Given the description of an element on the screen output the (x, y) to click on. 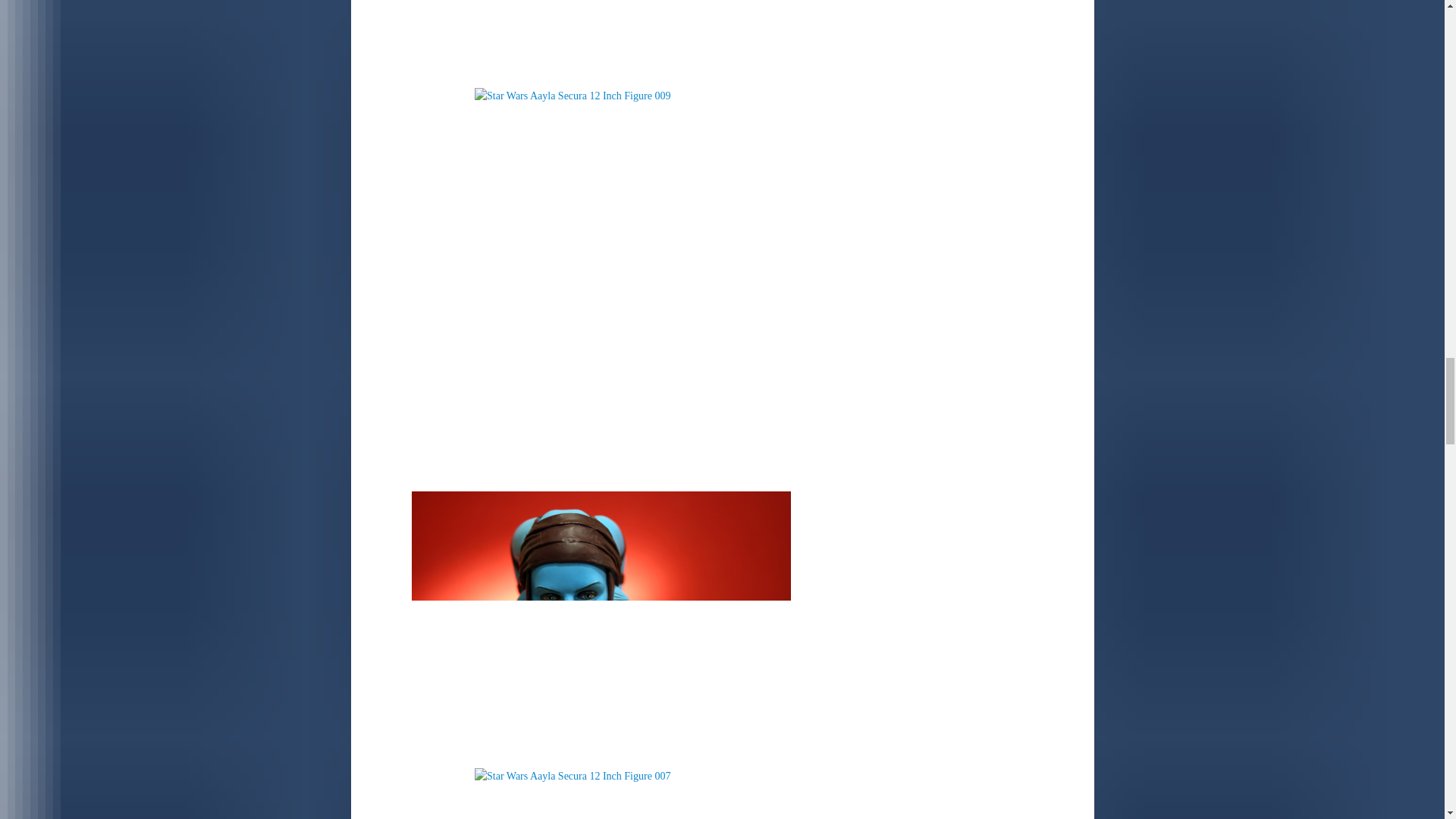
Star Wars Aayla Secura 12 Inch Figure 007 (600, 793)
Star Wars Aayla Secura 12 Inch Figure 010 (600, 40)
Star Wars Aayla Secura 12 Inch Figure 008 (600, 626)
